Given the description of an element on the screen output the (x, y) to click on. 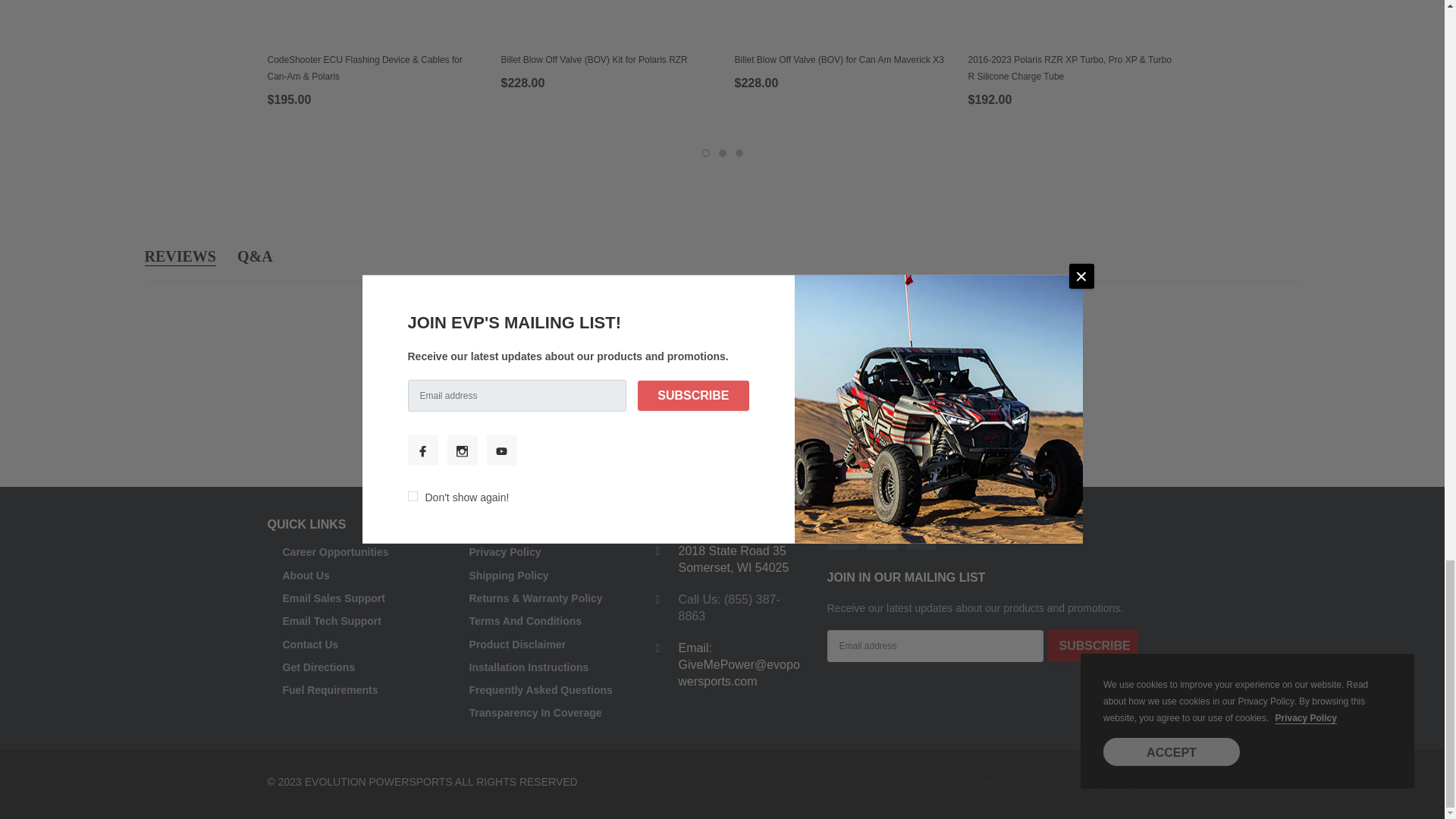
Facebook (842, 534)
Subscribe (1091, 645)
Instagram (881, 534)
YouTube (920, 534)
